Given the description of an element on the screen output the (x, y) to click on. 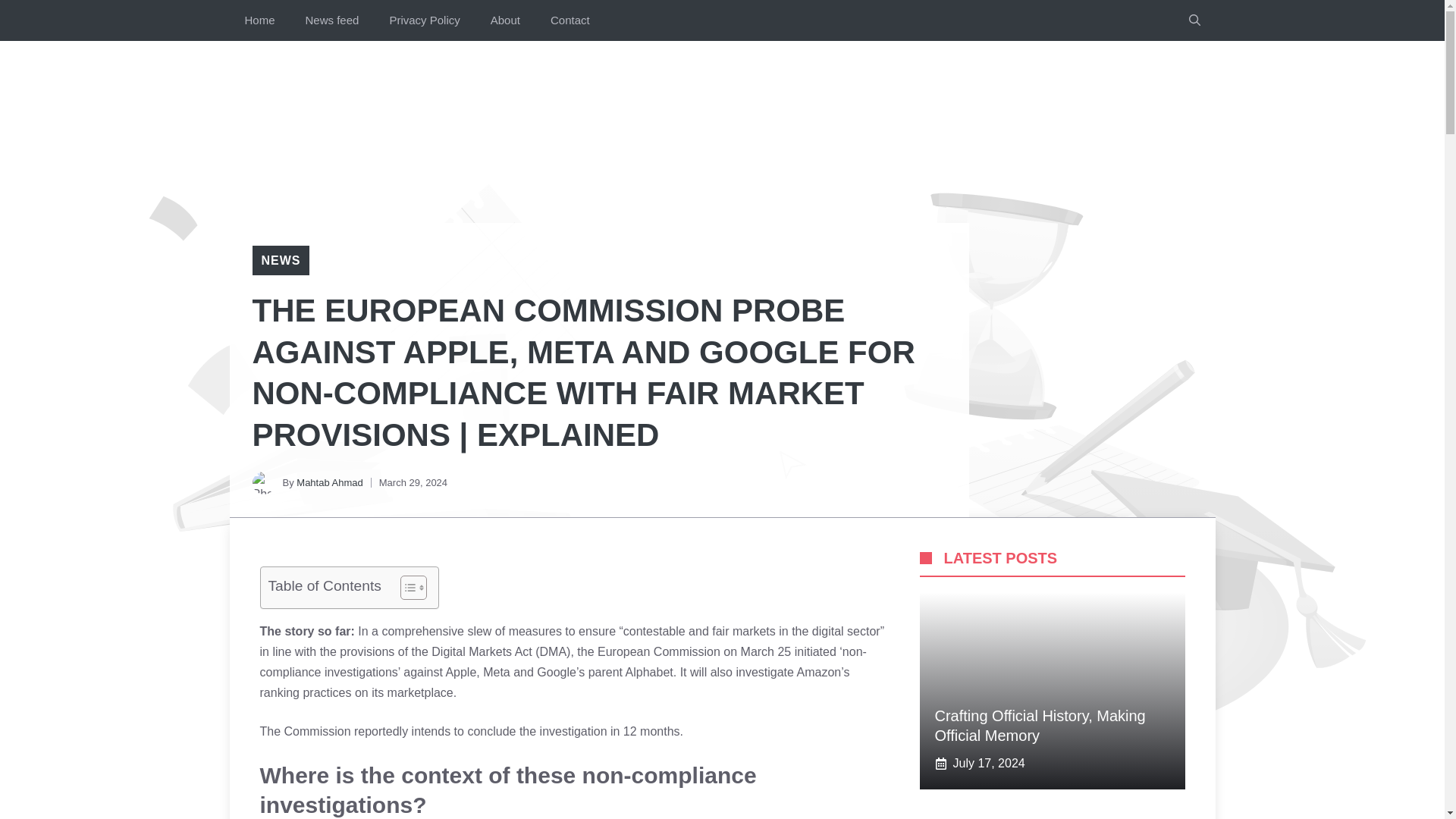
Mahtab Ahmad (329, 482)
News feed (331, 20)
Contact (570, 20)
NEWS (279, 259)
Home (258, 20)
About (505, 20)
Crafting Official History, Making Official Memory (1039, 725)
Privacy Policy (424, 20)
